Given the description of an element on the screen output the (x, y) to click on. 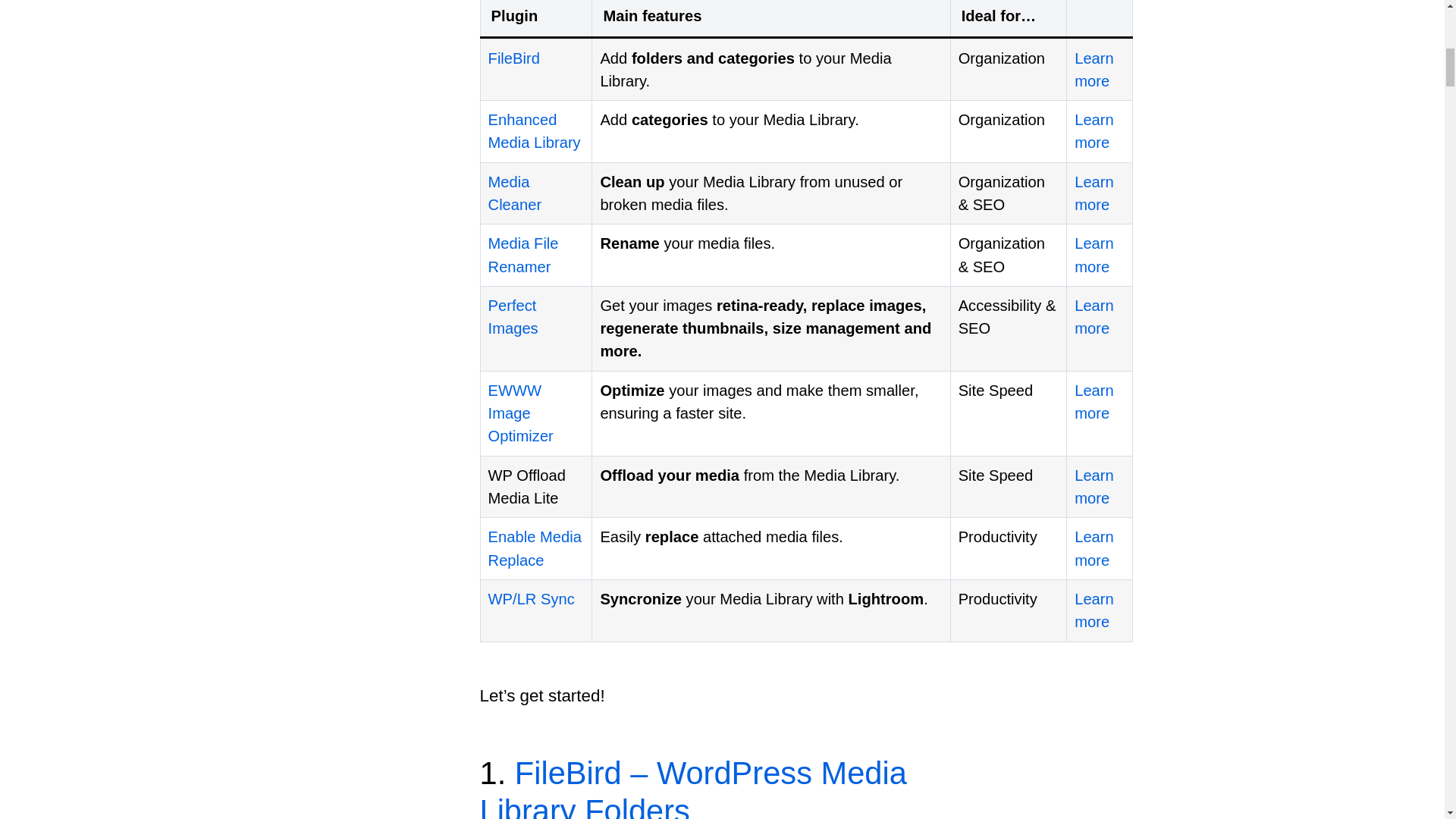
Learn more (1093, 254)
EWWW Image Optimizer (520, 413)
Learn more (1093, 69)
Enable Media Replace (533, 548)
Perfect Images (512, 316)
Learn more (1093, 192)
Enhanced Media Library (533, 130)
Learn more (1093, 486)
FileBird (513, 57)
Media File Renamer (523, 254)
